Given the description of an element on the screen output the (x, y) to click on. 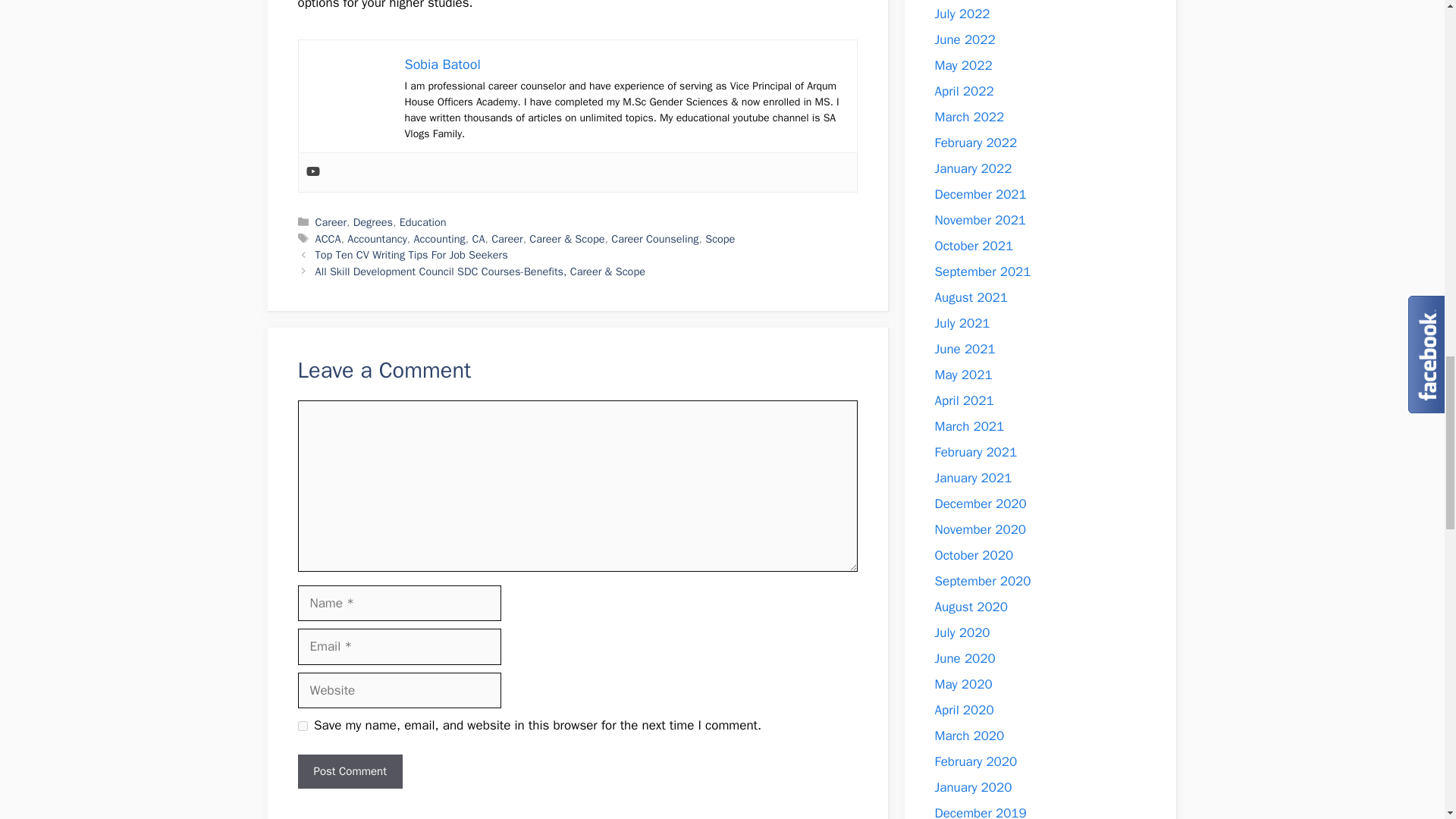
yes (302, 726)
Career (331, 222)
Degrees (373, 222)
Post Comment (349, 771)
Sobia Batool (442, 64)
